Given the description of an element on the screen output the (x, y) to click on. 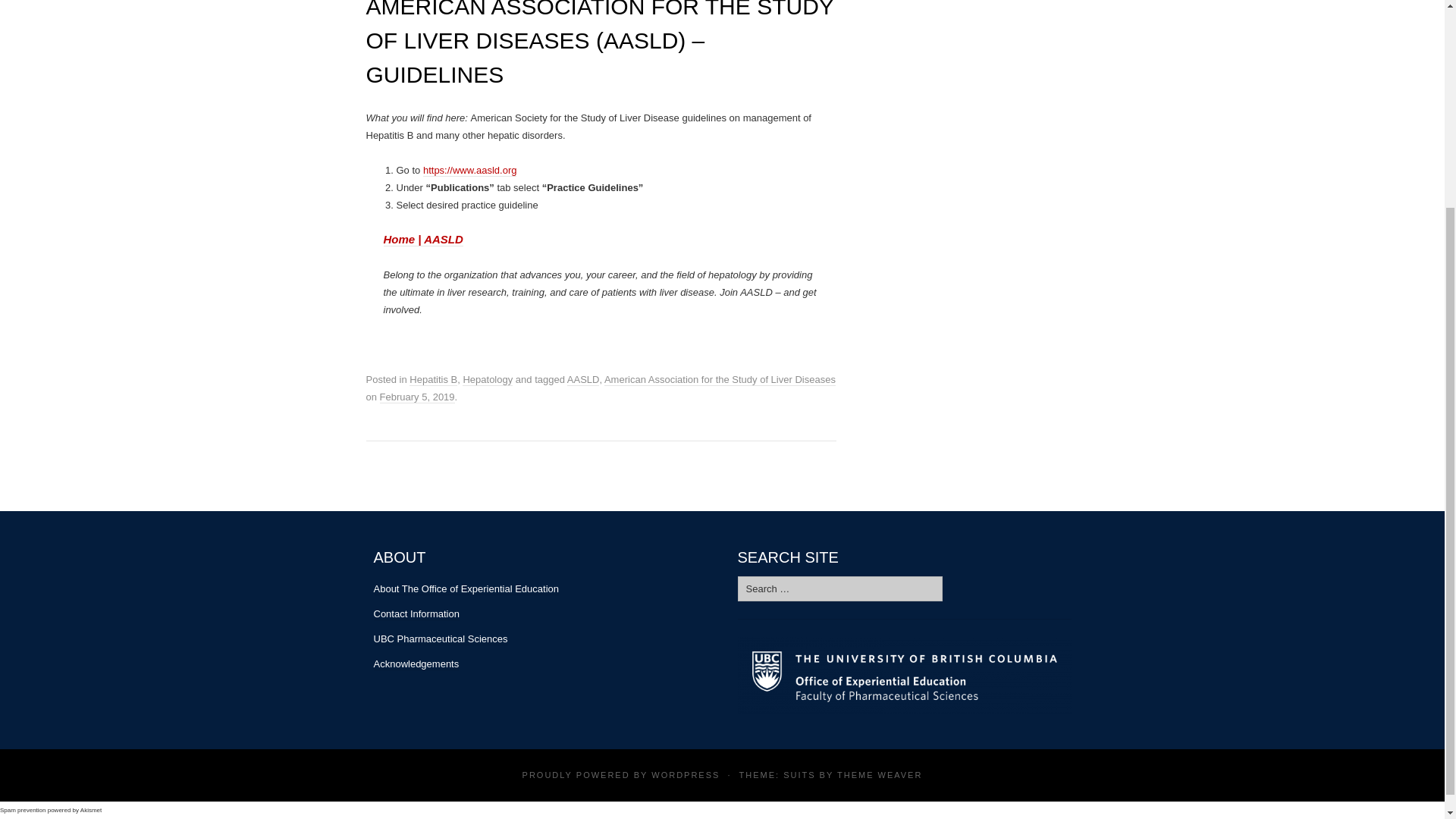
Semantic Personal Publishing Platform (684, 774)
1:39 am (417, 396)
Theme Developer (879, 774)
